Given the description of an element on the screen output the (x, y) to click on. 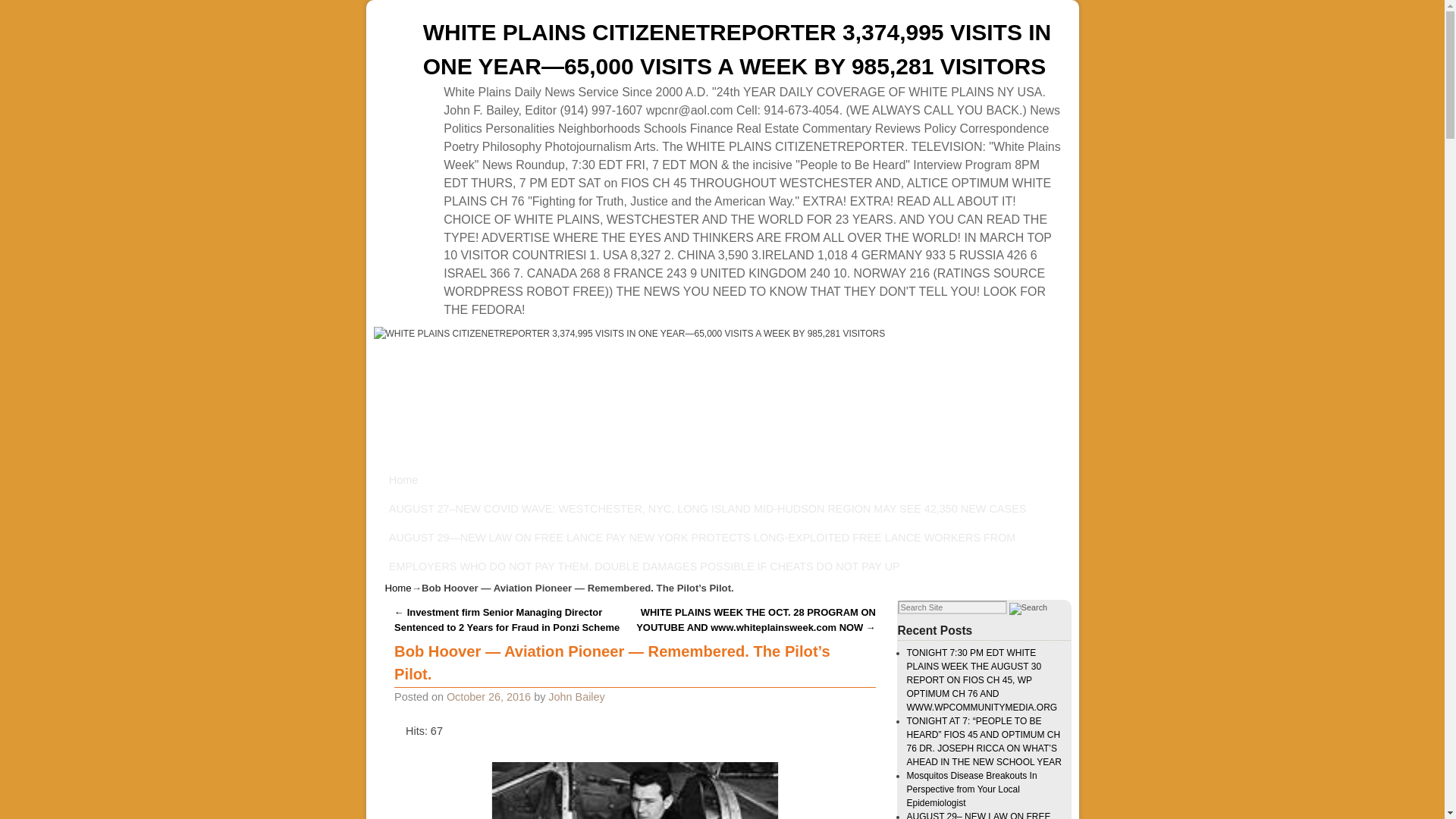
Skip to primary content (453, 480)
October 26, 2016 (488, 696)
Home (403, 480)
John Bailey (576, 696)
View all posts by John Bailey (576, 696)
9:34 pm (488, 696)
Skip to secondary content (460, 480)
Home (398, 587)
